Given the description of an element on the screen output the (x, y) to click on. 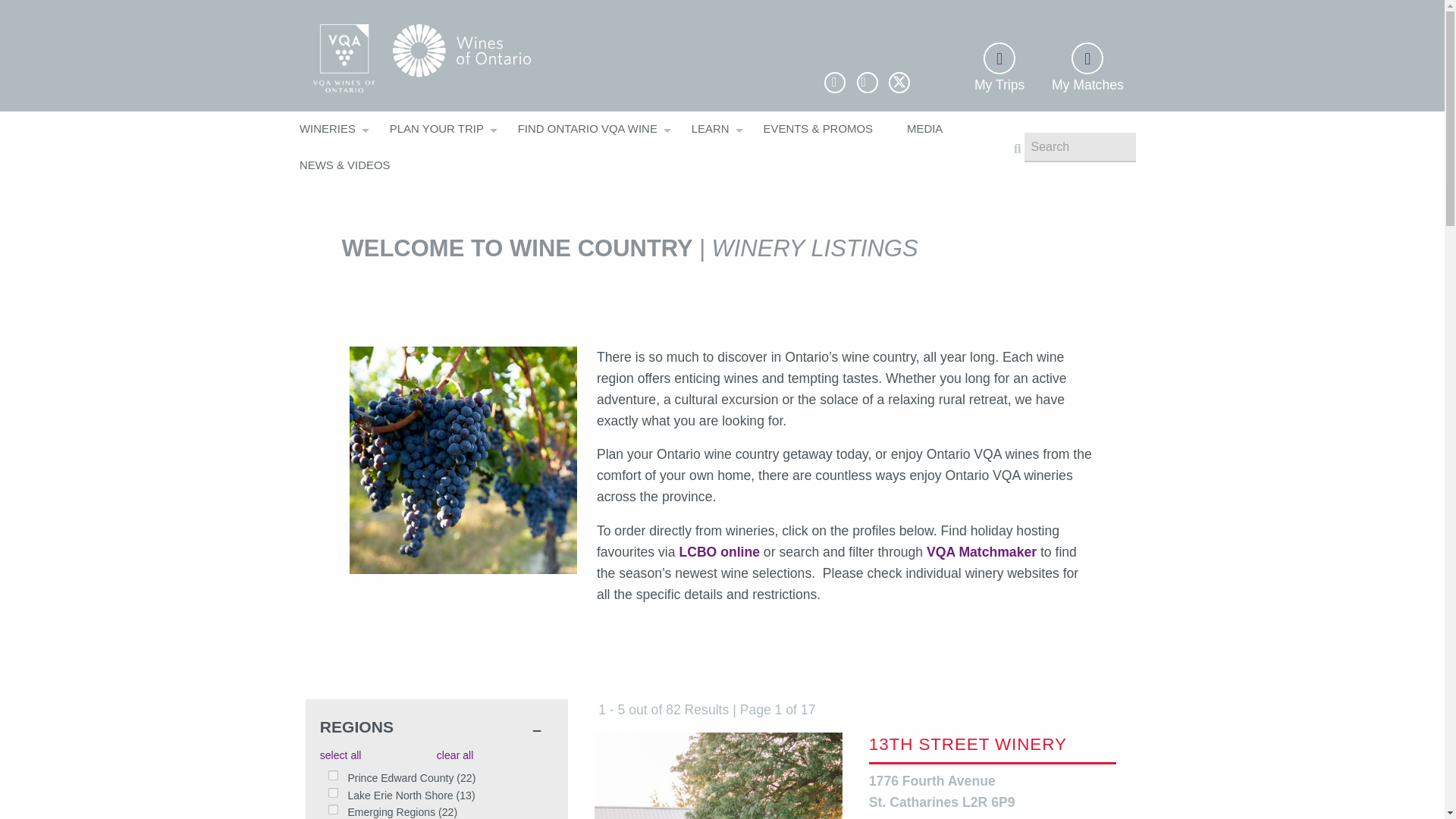
180 (333, 809)
178 (333, 775)
179 (333, 792)
Search for: (1080, 147)
